Given the description of an element on the screen output the (x, y) to click on. 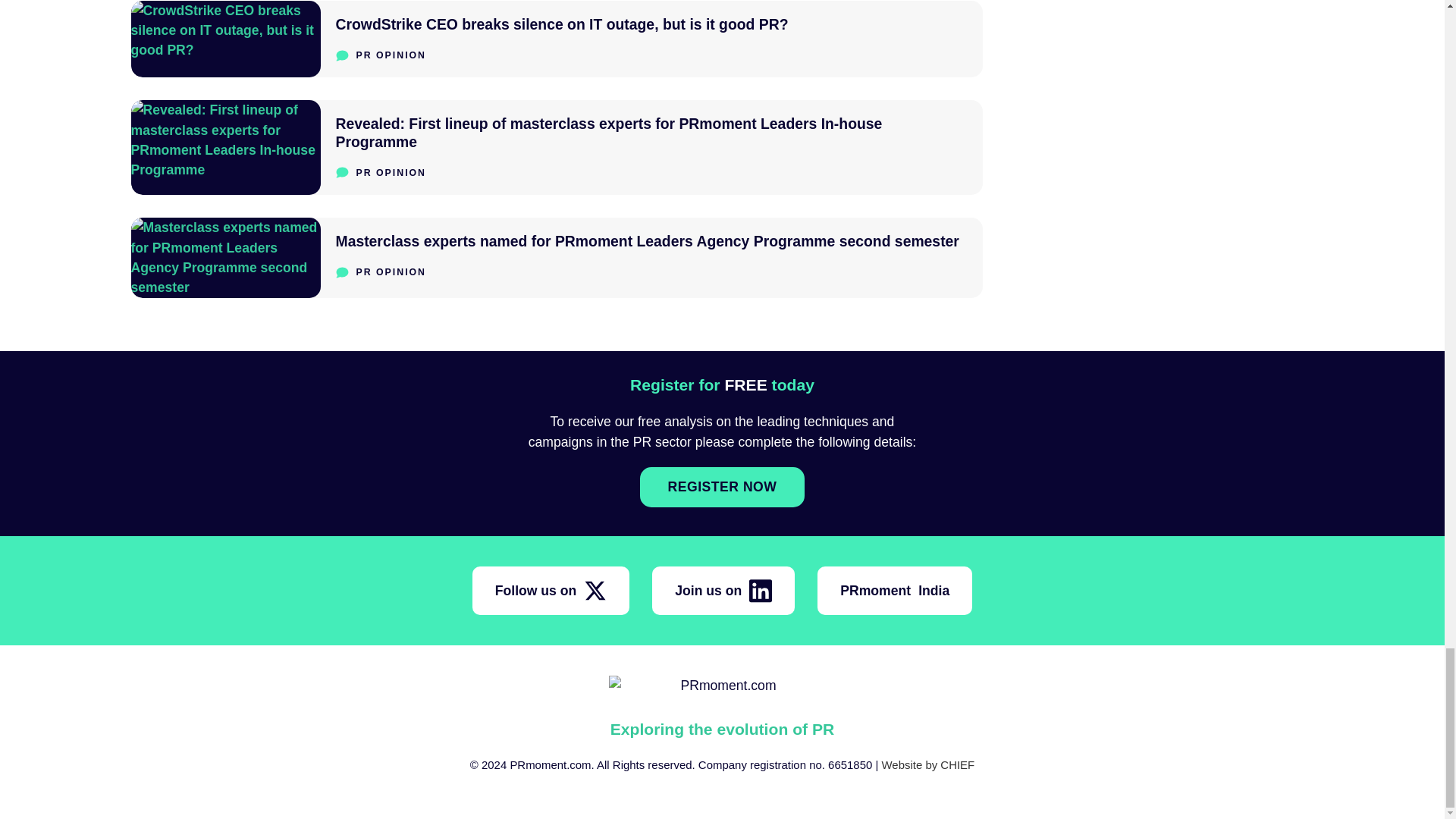
REGISTER NOW (722, 486)
Follow us on (550, 590)
